Given the description of an element on the screen output the (x, y) to click on. 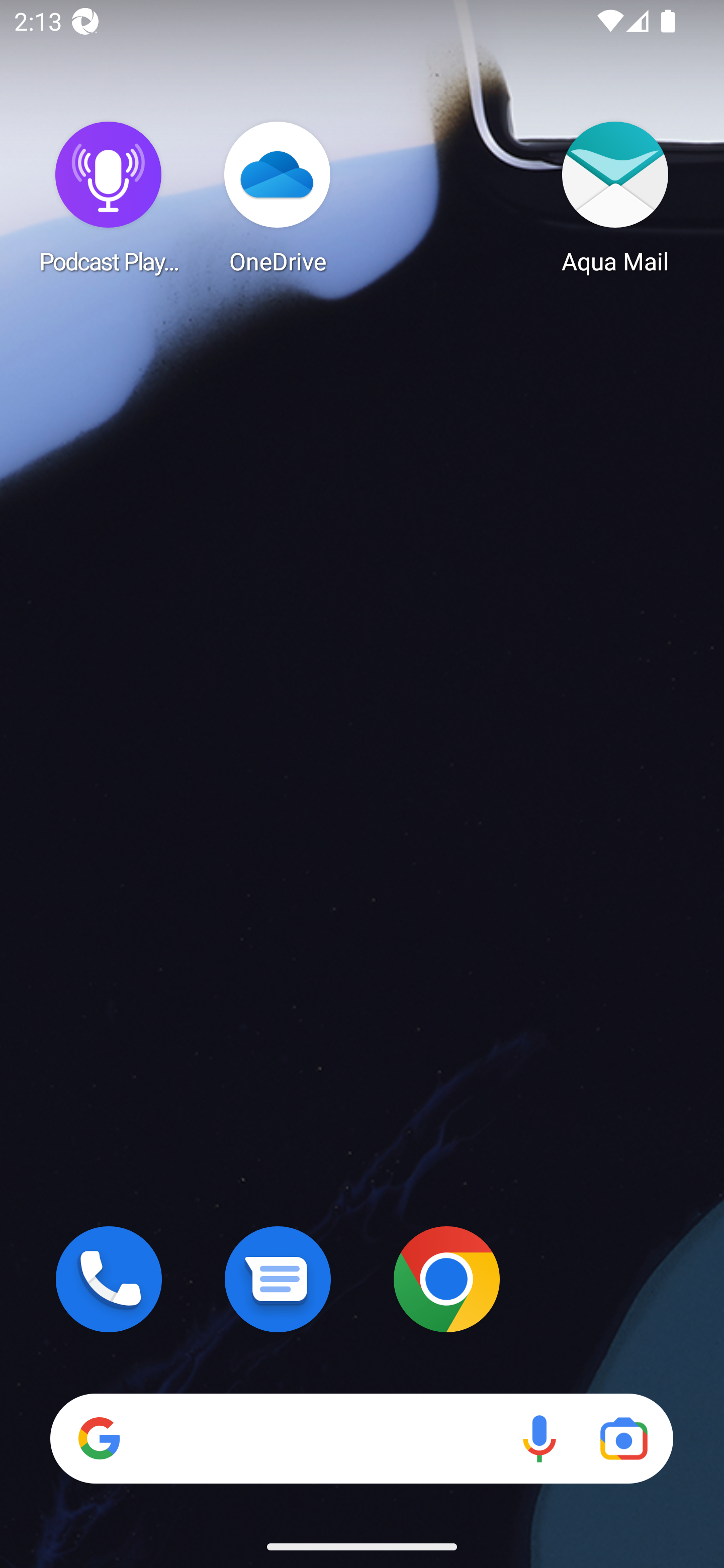
Podcast Player (108, 196)
OneDrive (277, 196)
Aqua Mail (615, 196)
Phone (108, 1279)
Messages (277, 1279)
Chrome (446, 1279)
Search Voice search Google Lens (361, 1438)
Voice search (539, 1438)
Google Lens (623, 1438)
